Given the description of an element on the screen output the (x, y) to click on. 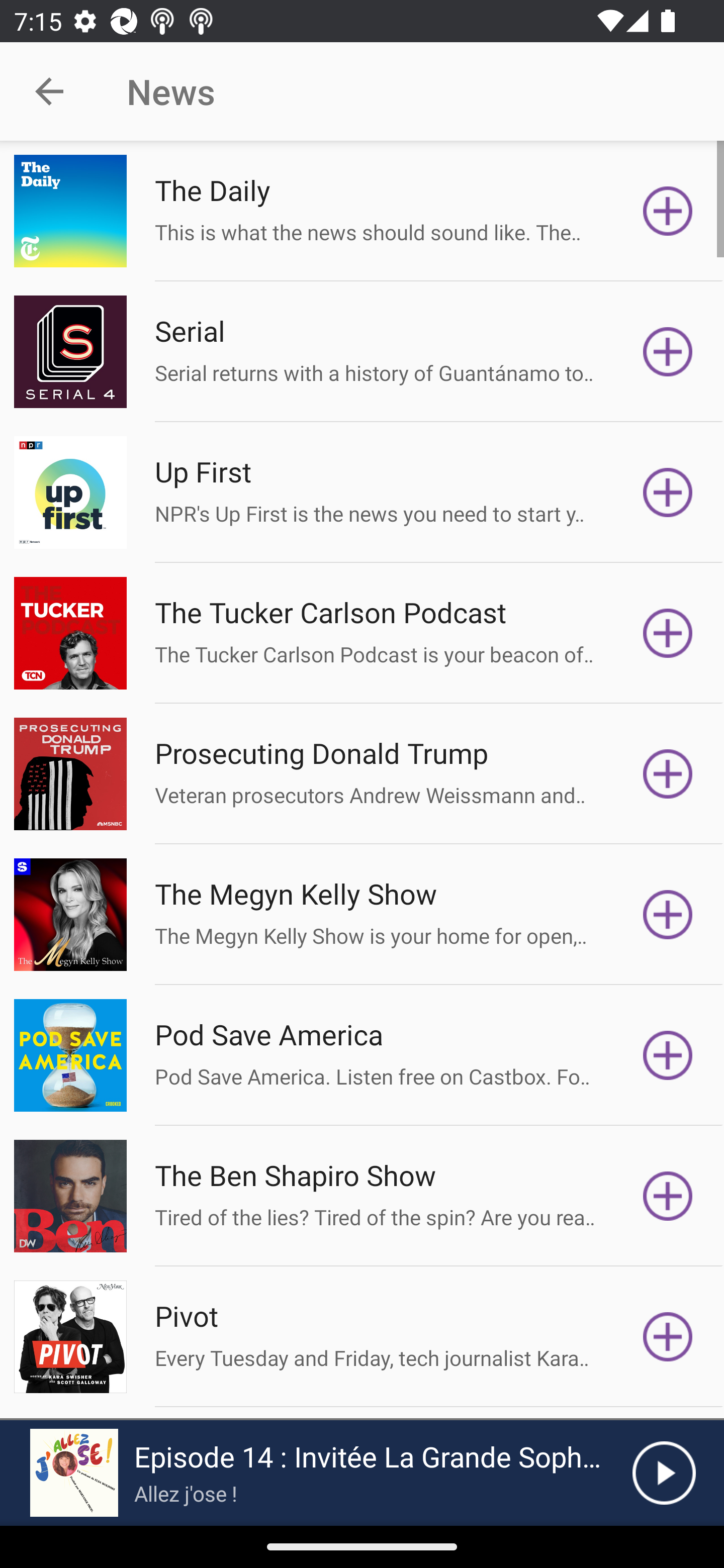
Navigate up (49, 91)
Subscribe (667, 211)
Subscribe (667, 350)
Subscribe (667, 491)
Subscribe (667, 633)
Subscribe (667, 773)
Subscribe (667, 913)
Subscribe (667, 1054)
Subscribe (667, 1195)
Subscribe (667, 1336)
Play (663, 1472)
